Given the description of an element on the screen output the (x, y) to click on. 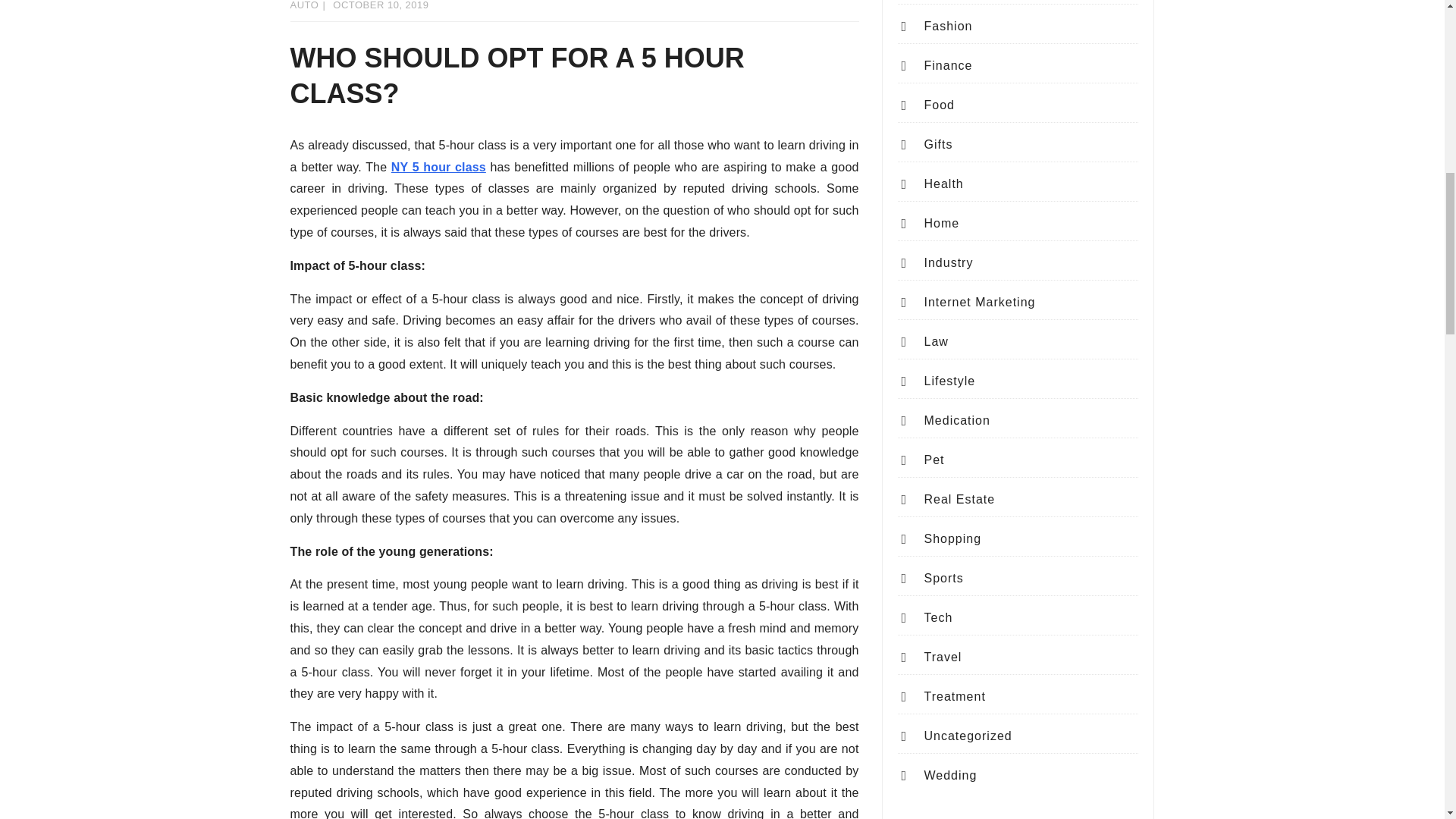
AUTO (303, 5)
OCTOBER 10, 2019 (380, 5)
NY 5 hour class (438, 166)
